Given the description of an element on the screen output the (x, y) to click on. 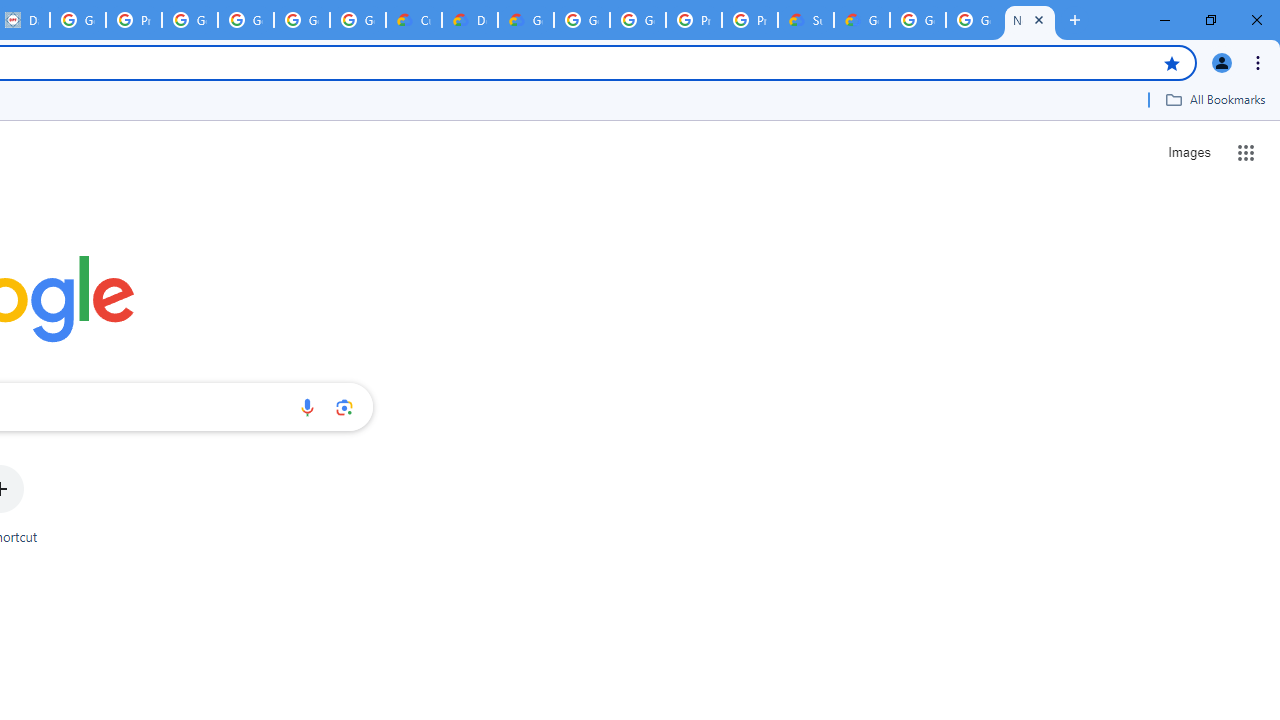
Google Workspace - Specific Terms (301, 20)
New Tab (1030, 20)
Google Cloud Platform (582, 20)
Google Cloud Service Health (861, 20)
Customer Care | Google Cloud (413, 20)
